Given the description of an element on the screen output the (x, y) to click on. 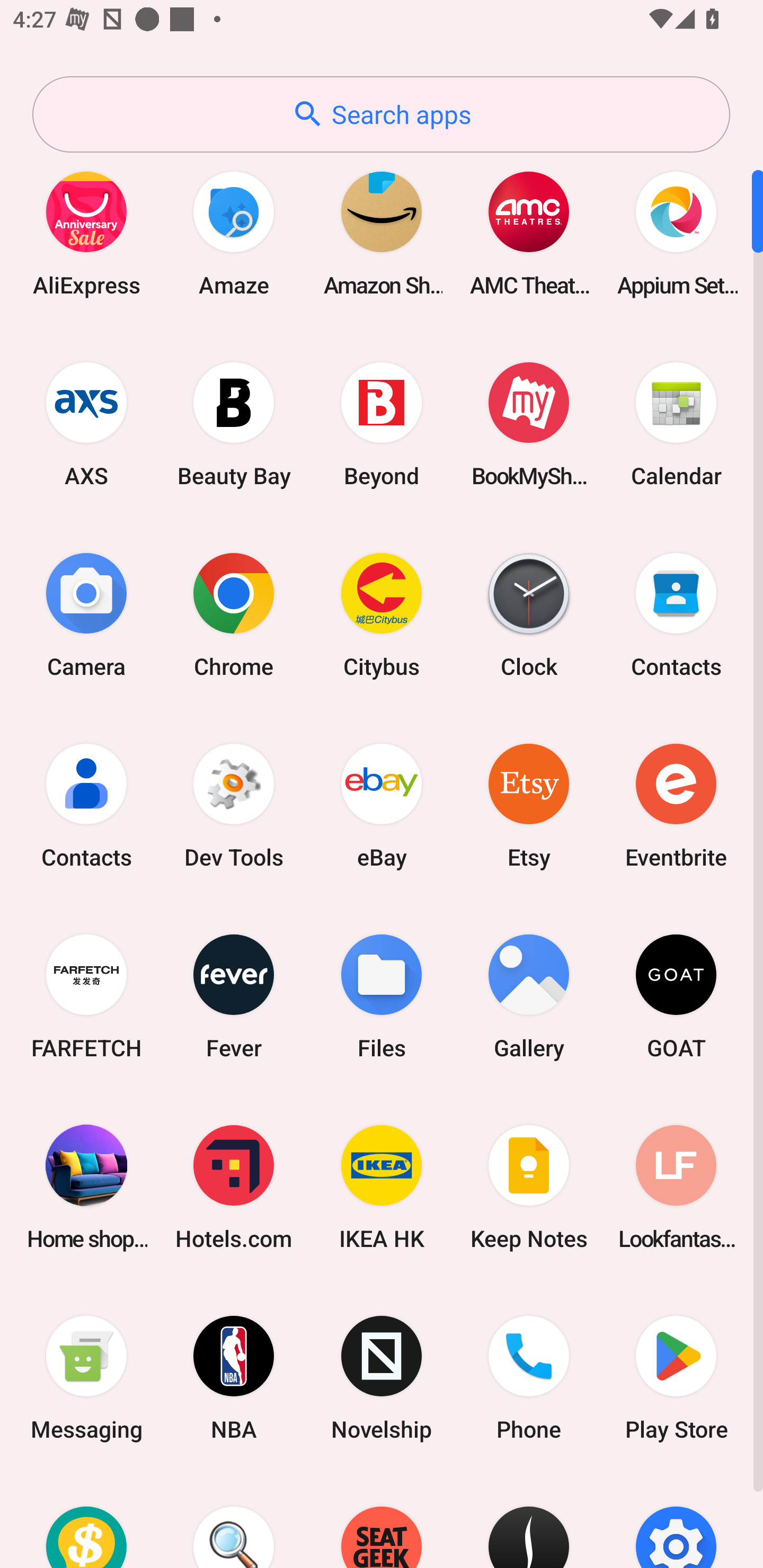
  Search apps (381, 114)
AliExpress (86, 233)
Amaze (233, 233)
Amazon Shopping (381, 233)
AMC Theatres (528, 233)
Appium Settings (676, 233)
AXS (86, 424)
Beauty Bay (233, 424)
Beyond (381, 424)
BookMyShow (528, 424)
Calendar (676, 424)
Camera (86, 614)
Chrome (233, 614)
Citybus (381, 614)
Clock (528, 614)
Contacts (676, 614)
Contacts (86, 805)
Dev Tools (233, 805)
eBay (381, 805)
Etsy (528, 805)
Eventbrite (676, 805)
FARFETCH (86, 996)
Fever (233, 996)
Files (381, 996)
Gallery (528, 996)
GOAT (676, 996)
Home shopping (86, 1186)
Hotels.com (233, 1186)
IKEA HK (381, 1186)
Keep Notes (528, 1186)
Lookfantastic (676, 1186)
Messaging (86, 1377)
NBA (233, 1377)
Novelship (381, 1377)
Phone (528, 1377)
Play Store (676, 1377)
Price (86, 1520)
Search (233, 1520)
SeatGeek (381, 1520)
Sephora (528, 1520)
Settings (676, 1520)
